Given the description of an element on the screen output the (x, y) to click on. 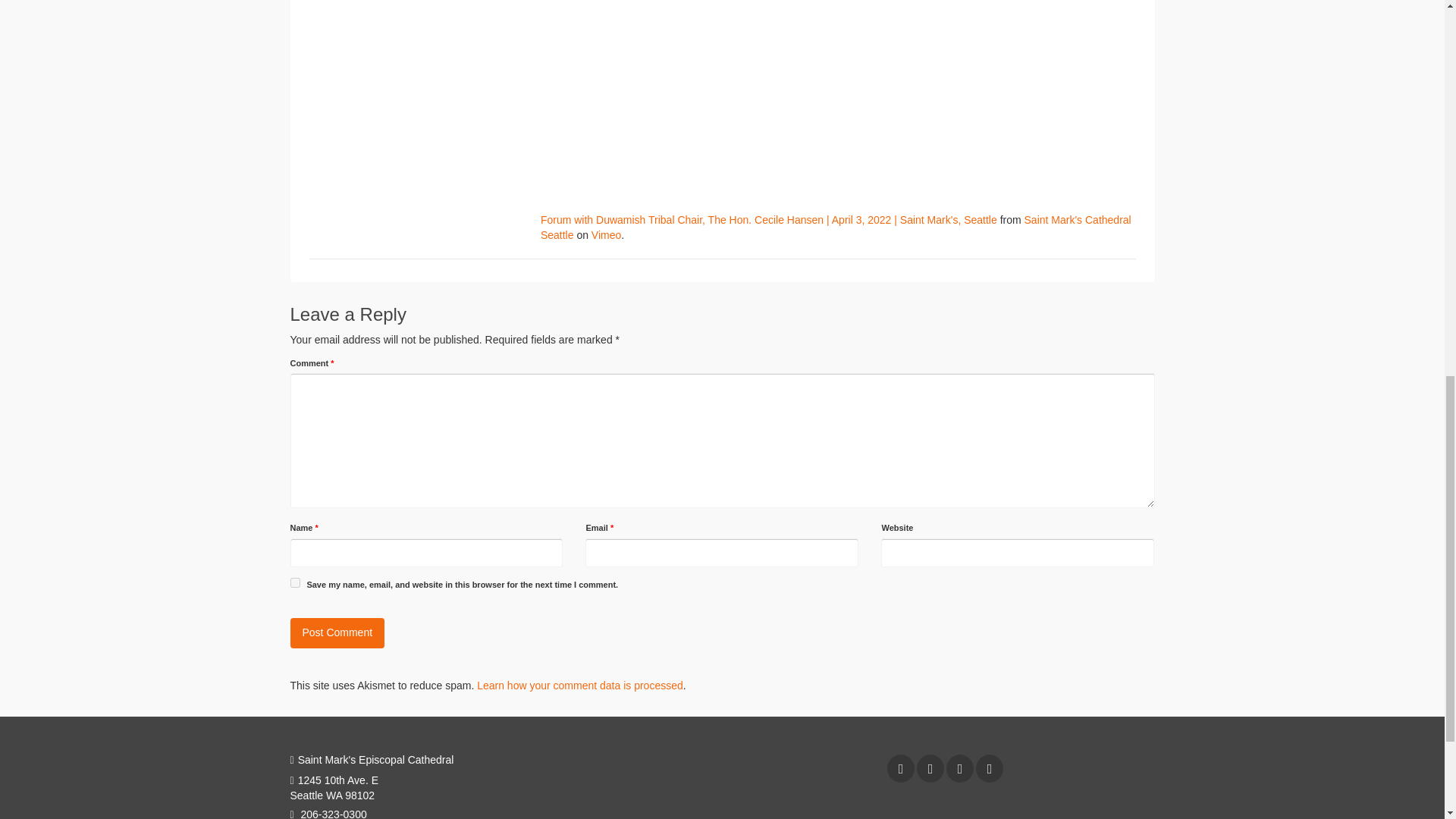
yes (294, 583)
Post Comment (336, 633)
